Given the description of an element on the screen output the (x, y) to click on. 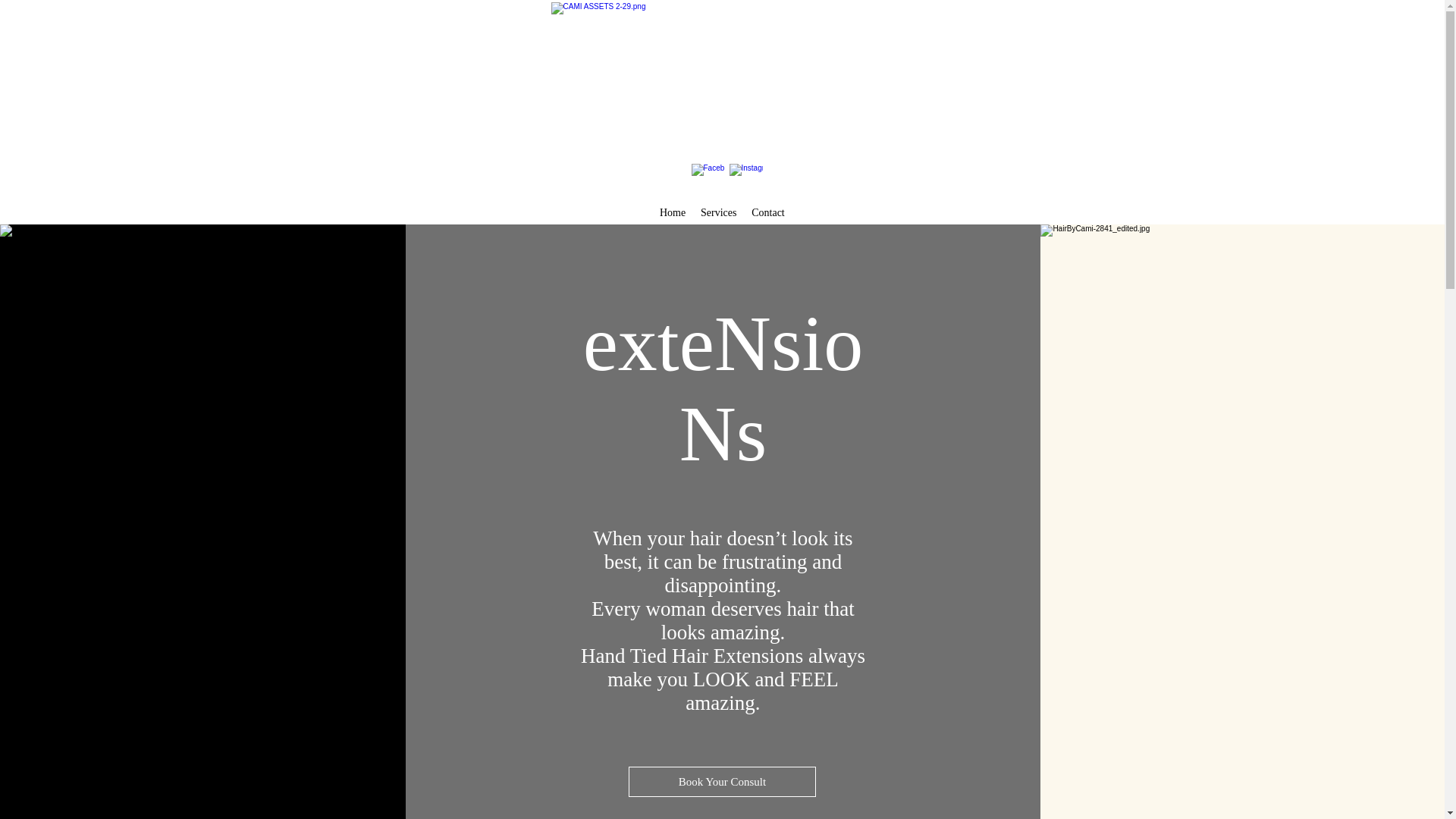
Book Your Consult (721, 781)
Services (718, 212)
Contact (768, 212)
Home (672, 212)
